Given the description of an element on the screen output the (x, y) to click on. 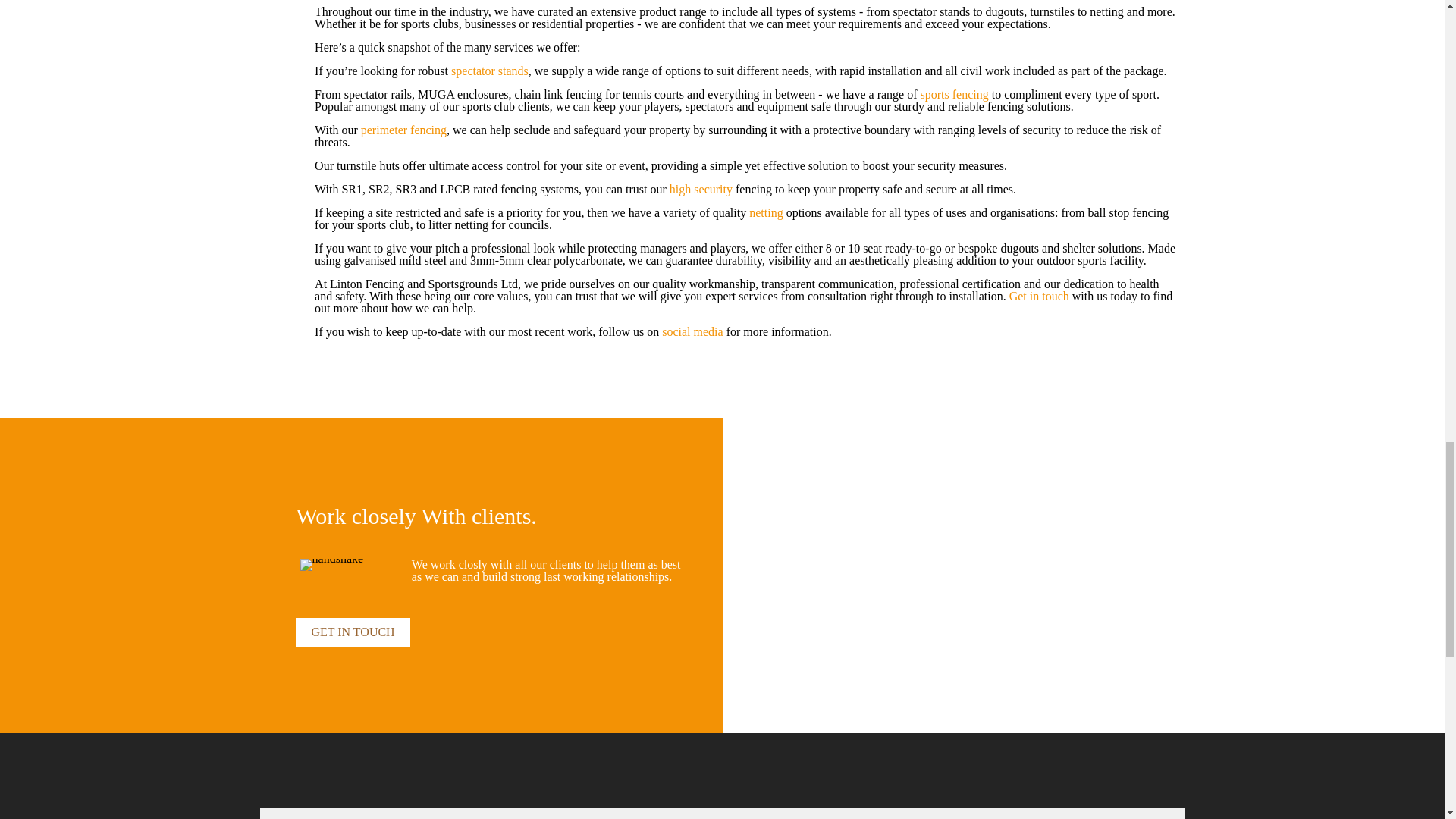
social media (692, 331)
perimeter fencing (403, 129)
sports fencing (954, 93)
handshake (331, 564)
Get in touch (1038, 295)
netting (766, 212)
spectator stands (489, 70)
GET IN TOUCH (352, 632)
high security (700, 188)
